Given the description of an element on the screen output the (x, y) to click on. 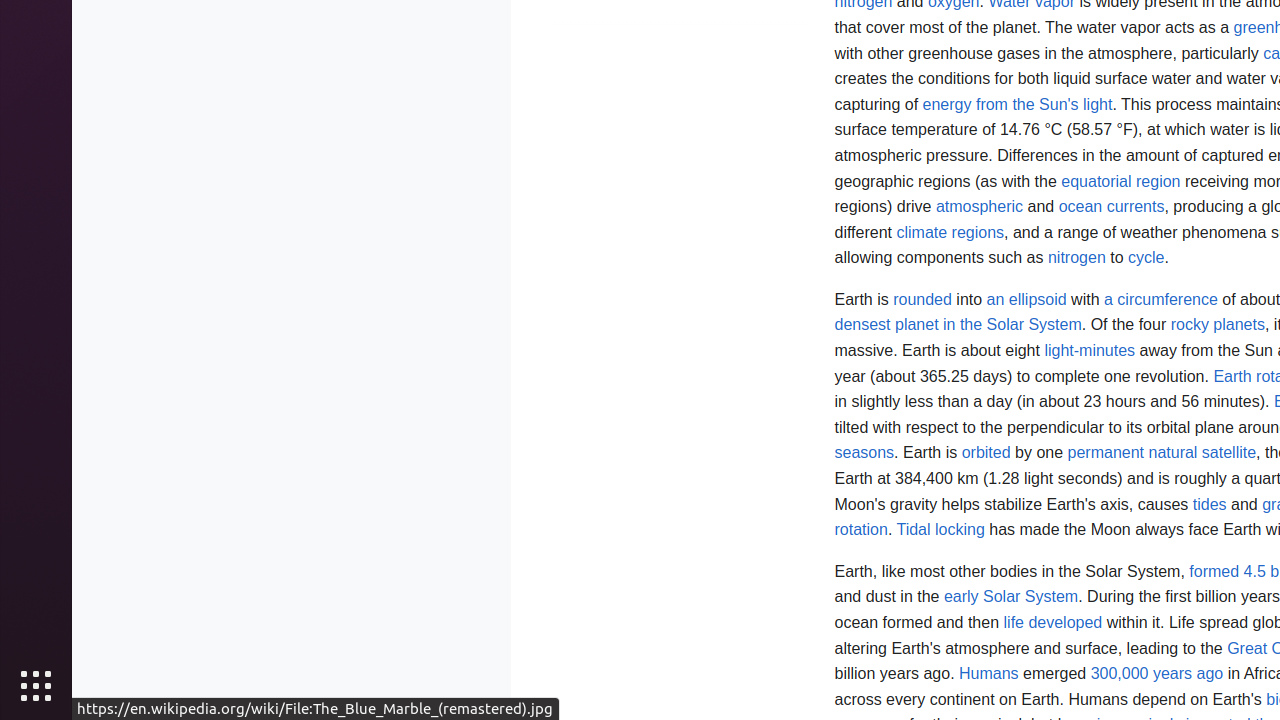
densest planet in the Solar System Element type: link (958, 325)
climate regions Element type: link (950, 231)
equatorial region Element type: link (1121, 181)
energy from the Sun's light Element type: link (1017, 104)
a circumference Element type: link (1161, 299)
